Given the description of an element on the screen output the (x, y) to click on. 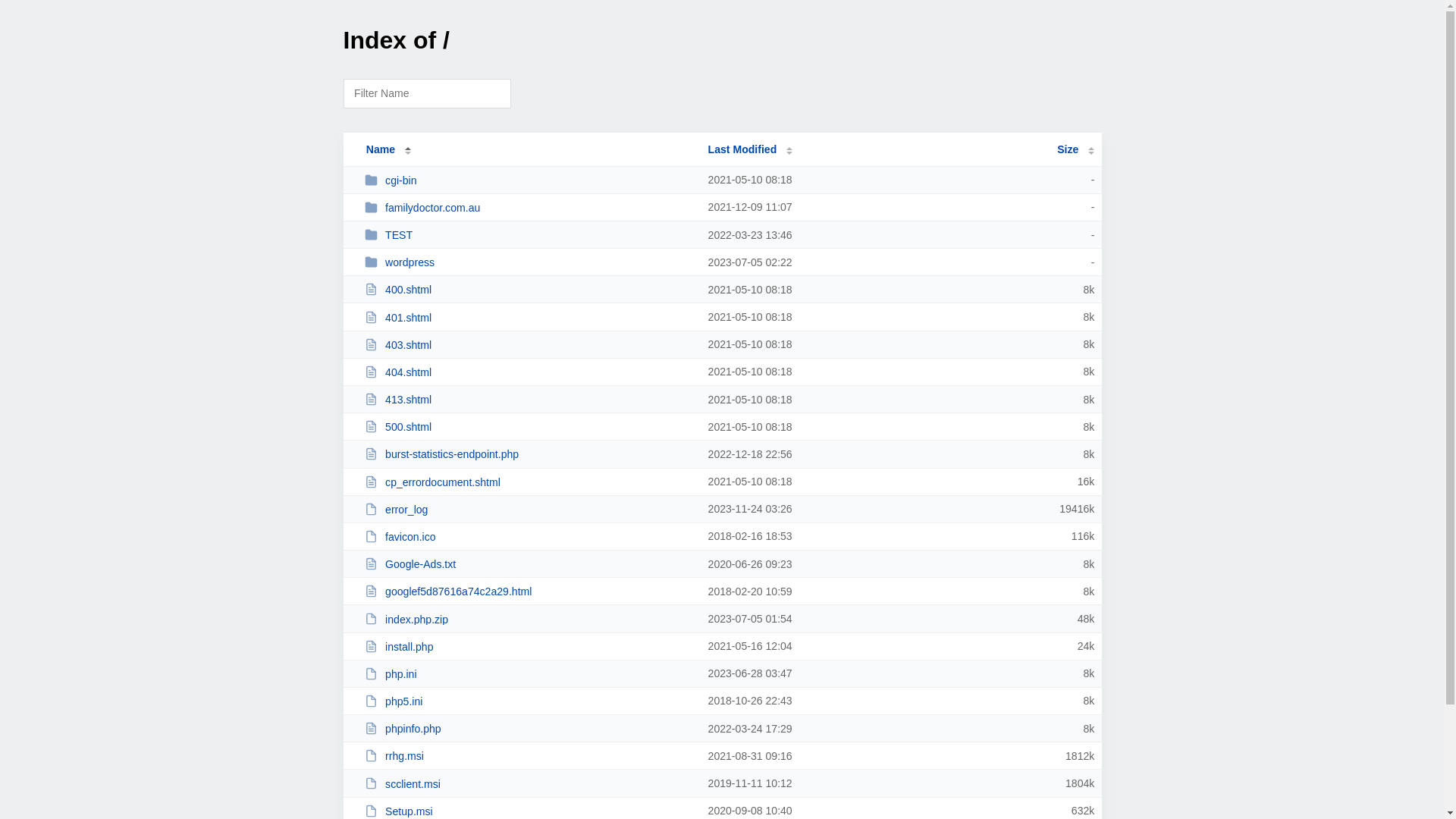
Last Modified Element type: text (750, 149)
scclient.msi Element type: text (529, 783)
403.shtml Element type: text (529, 344)
rrhg.msi Element type: text (529, 755)
cp_errordocument.shtml Element type: text (529, 481)
Name Element type: text (380, 149)
TEST Element type: text (529, 234)
401.shtml Element type: text (529, 316)
favicon.ico Element type: text (529, 536)
wordpress Element type: text (529, 261)
413.shtml Element type: text (529, 398)
install.php Element type: text (529, 646)
cgi-bin Element type: text (529, 179)
php5.ini Element type: text (529, 700)
Size Element type: text (1075, 149)
phpinfo.php Element type: text (529, 727)
error_log Element type: text (529, 508)
404.shtml Element type: text (529, 371)
burst-statistics-endpoint.php Element type: text (529, 453)
400.shtml Element type: text (529, 288)
googlef5d87616a74c2a29.html Element type: text (529, 590)
index.php.zip Element type: text (529, 618)
familydoctor.com.au Element type: text (529, 206)
Setup.msi Element type: text (529, 810)
Google-Ads.txt Element type: text (529, 563)
php.ini Element type: text (529, 673)
500.shtml Element type: text (529, 426)
